Given the description of an element on the screen output the (x, y) to click on. 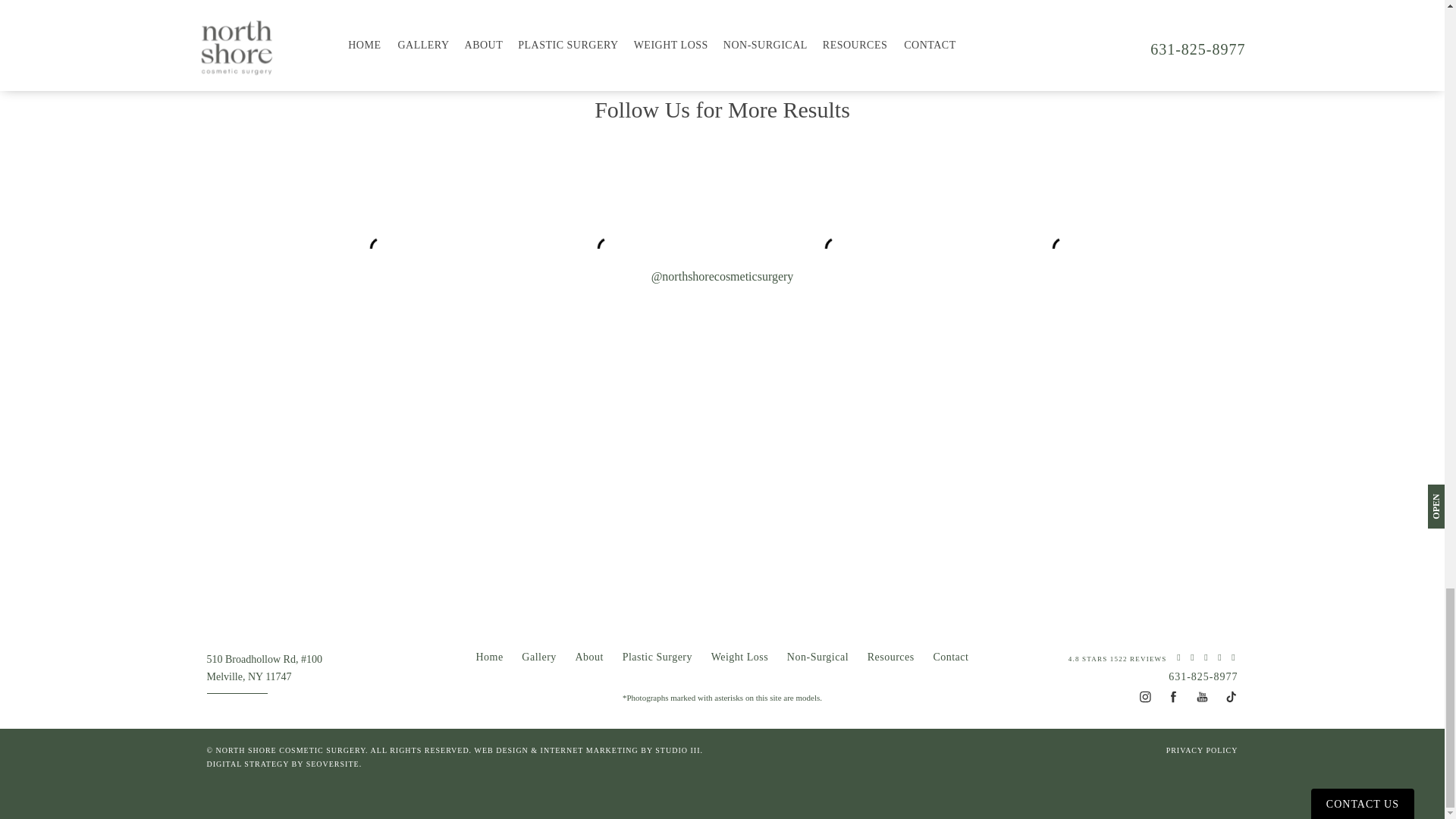
North Shore Cosmetic Surgery on Tiktok (1230, 689)
North Shore Cosmetic Surgery on Facebook (1172, 689)
North Shore Cosmetic Surgery on Youtube (1201, 689)
North Shore Cosmetic Surgery on Instagram (1144, 689)
Instagram Feed (721, 191)
